Given the description of an element on the screen output the (x, y) to click on. 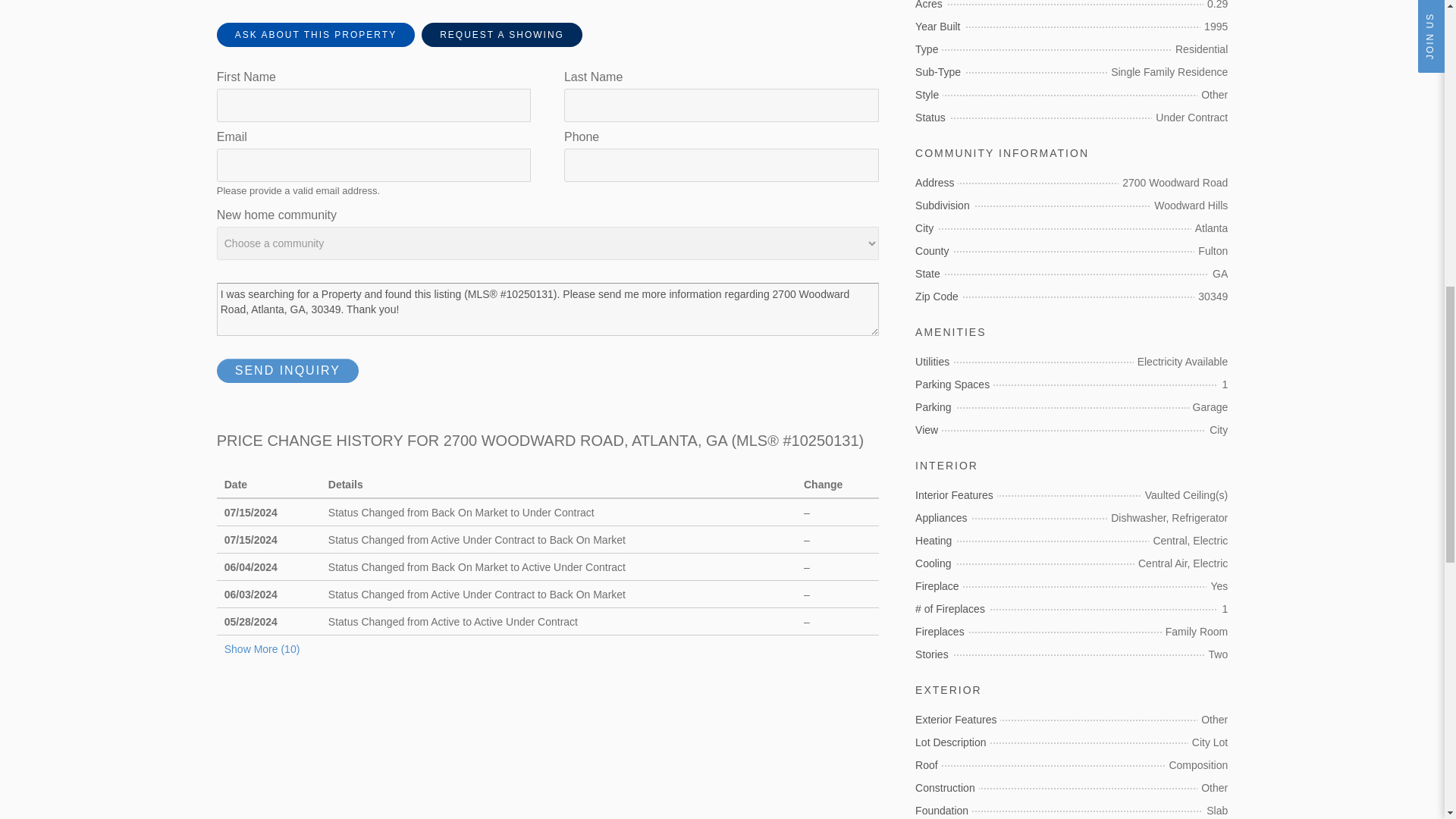
Mon. Jun. 3rd, 2024 (251, 594)
Tue. Jun. 4th, 2024 (251, 567)
Tue. May. 28th, 2024 (251, 621)
Mon. Jul. 15th, 2024 (251, 512)
Mon. Jul. 15th, 2024 (251, 539)
